Given the description of an element on the screen output the (x, y) to click on. 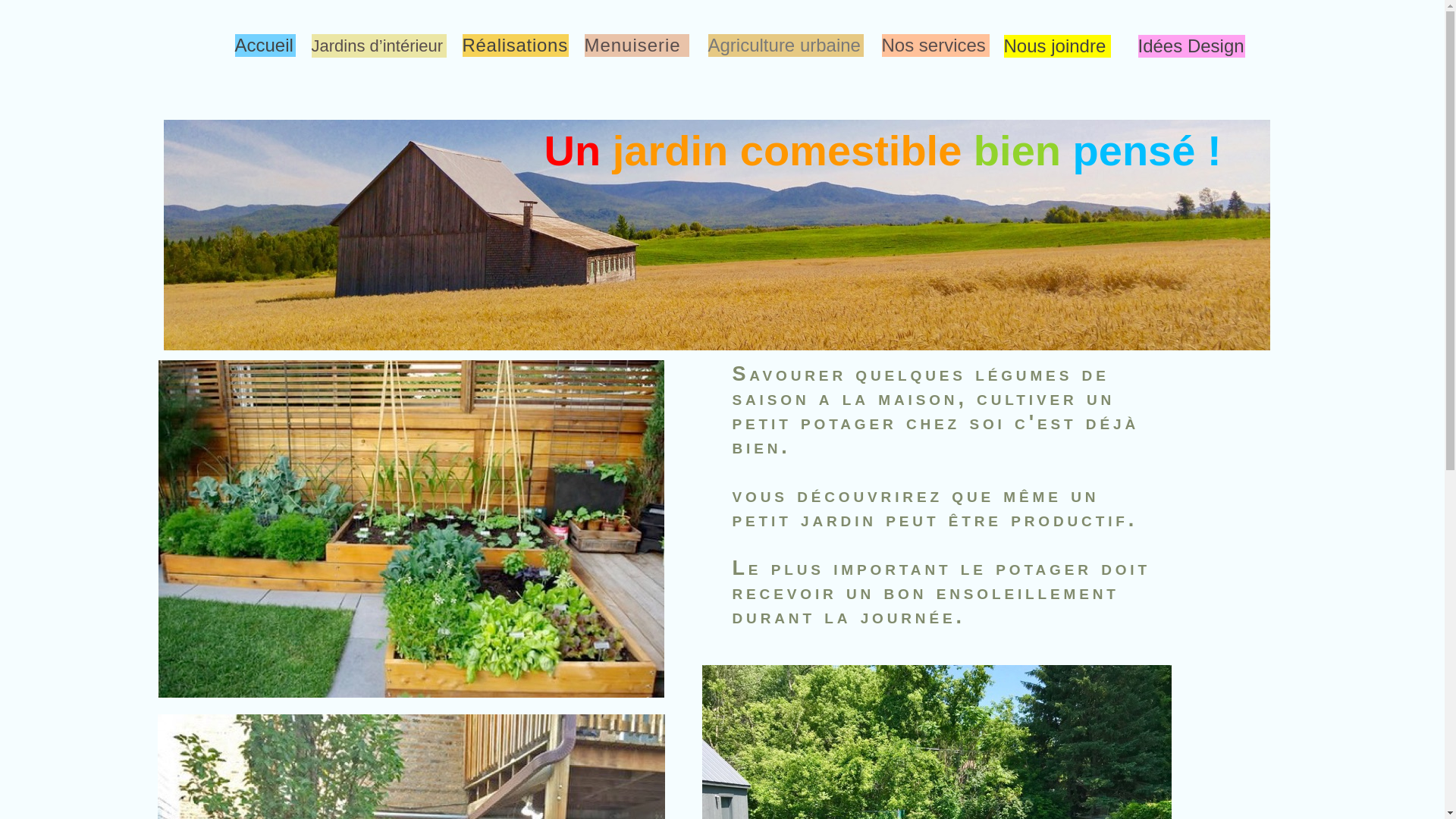
Accueil Element type: text (264, 44)
Agriculture urbaine Element type: text (784, 44)
Nous joindre Element type: text (1055, 45)
Nos services Element type: text (933, 44)
Menuiserie Element type: text (631, 44)
